Given the description of an element on the screen output the (x, y) to click on. 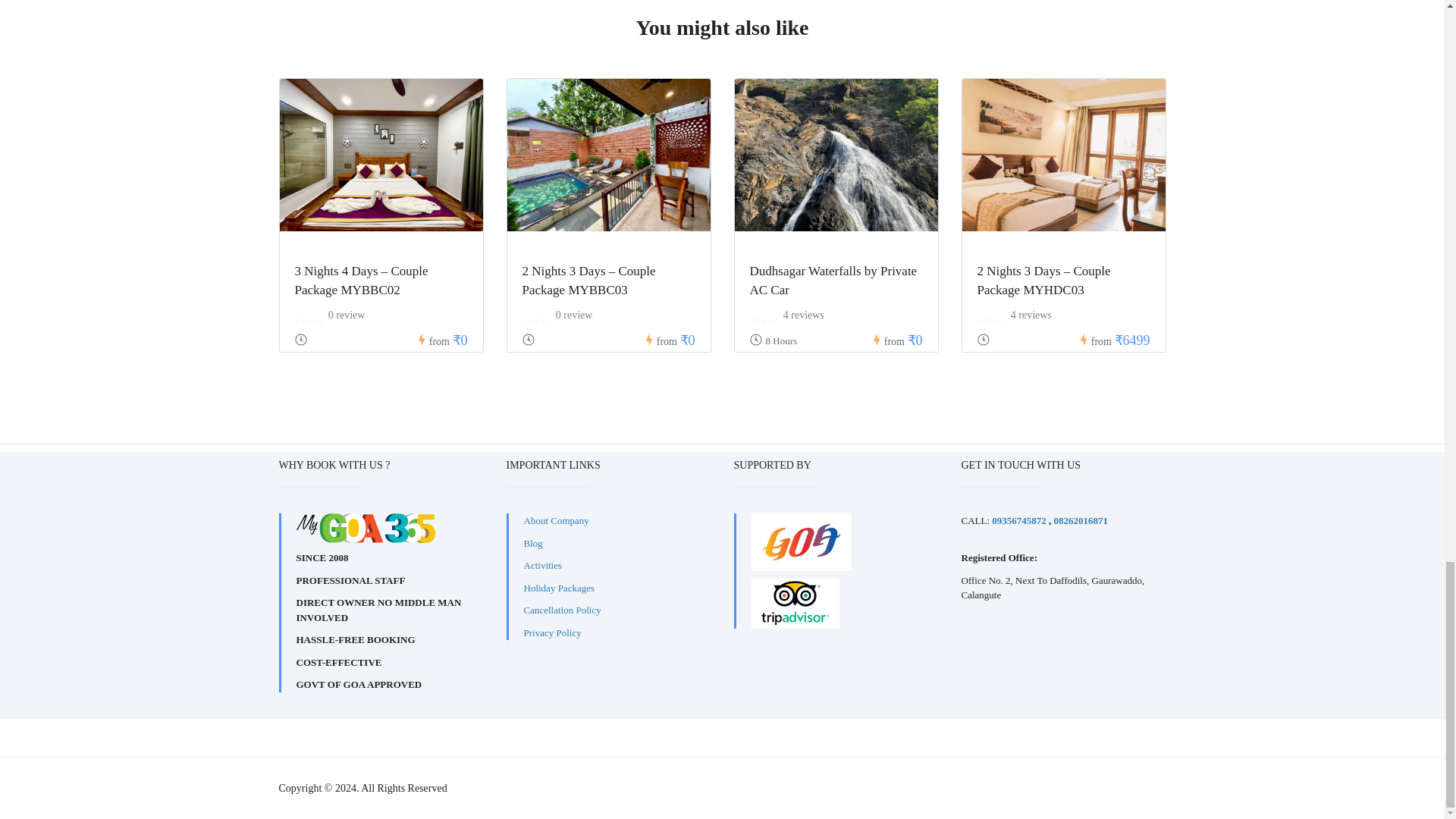
Dudhsagar Waterfalls by Private AC Car (833, 280)
Holiday Packages (558, 587)
About Company (555, 520)
Activities (542, 564)
Blog (531, 542)
